Given the description of an element on the screen output the (x, y) to click on. 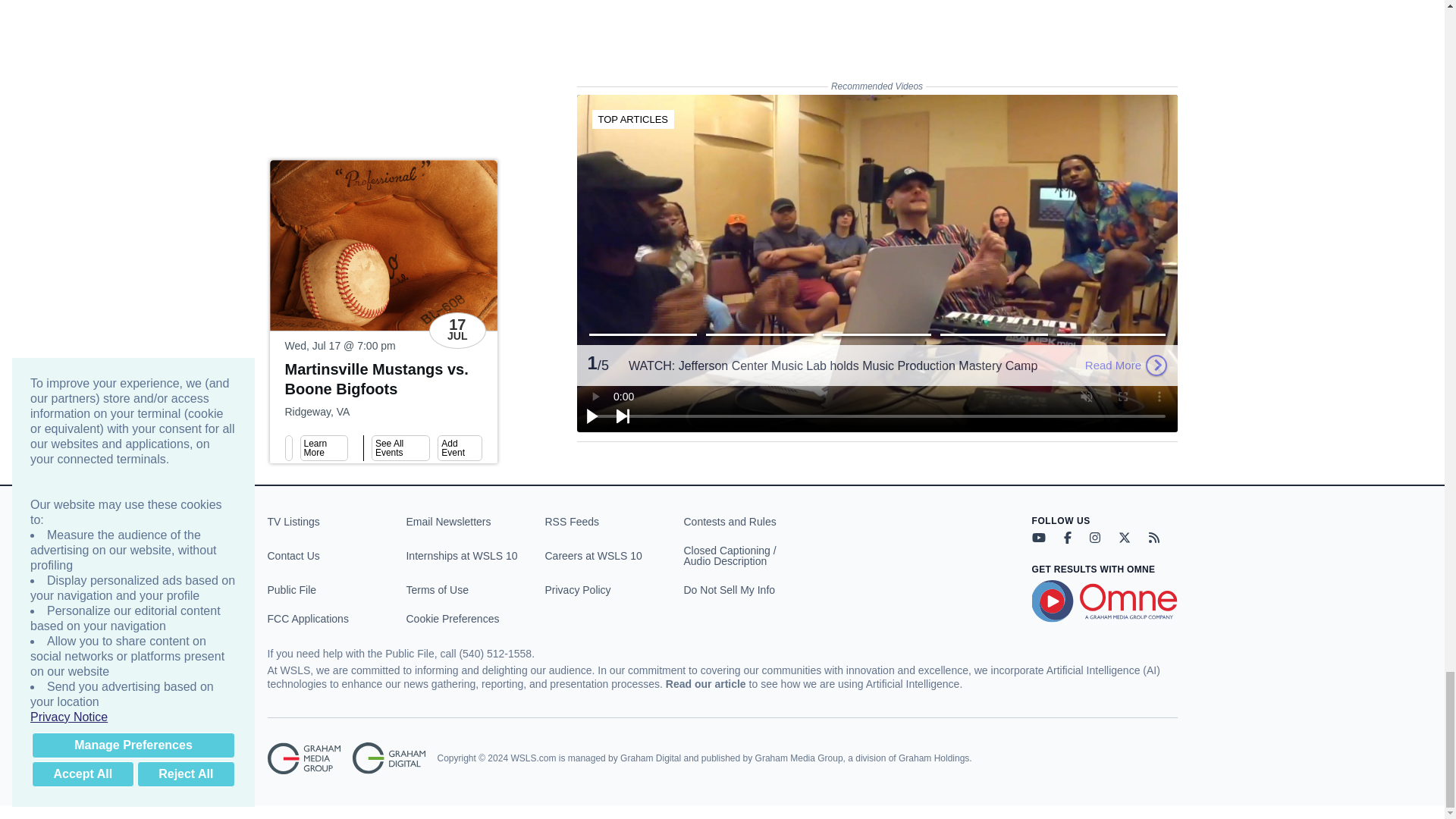
Up Next (623, 416)
twitter (1123, 537)
youtube (1037, 537)
Play (593, 416)
